Given the description of an element on the screen output the (x, y) to click on. 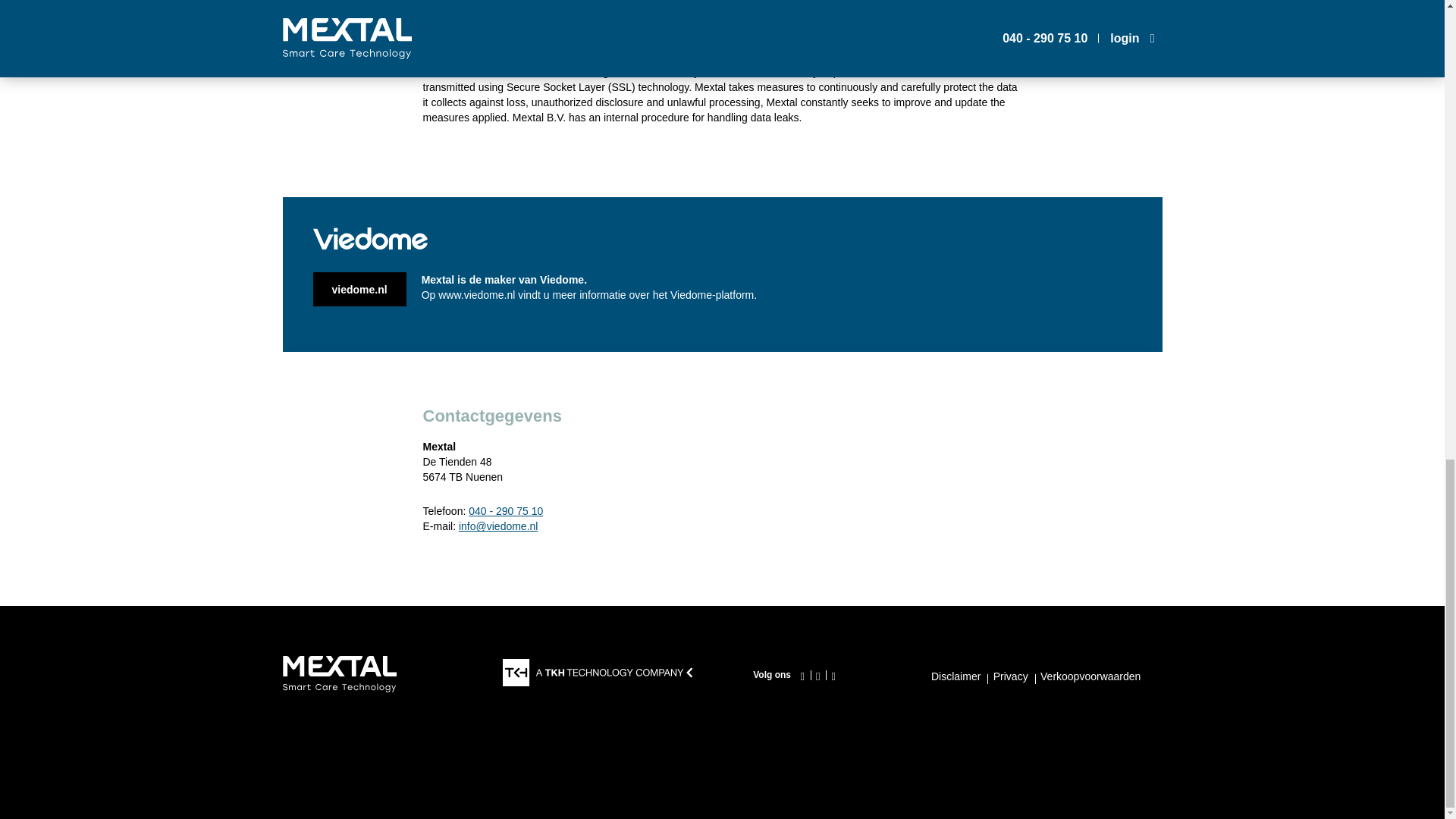
viedome.nl (359, 288)
viedome.nl (359, 288)
Youtube (833, 676)
040 - 290 75 10 (505, 510)
Facebook (801, 676)
Disclaimer (957, 676)
Verkoopvoorwaarden (1089, 676)
Disclaimer (957, 676)
LinkedIn (817, 676)
Cookies and privacy statement (1008, 676)
